Given the description of an element on the screen output the (x, y) to click on. 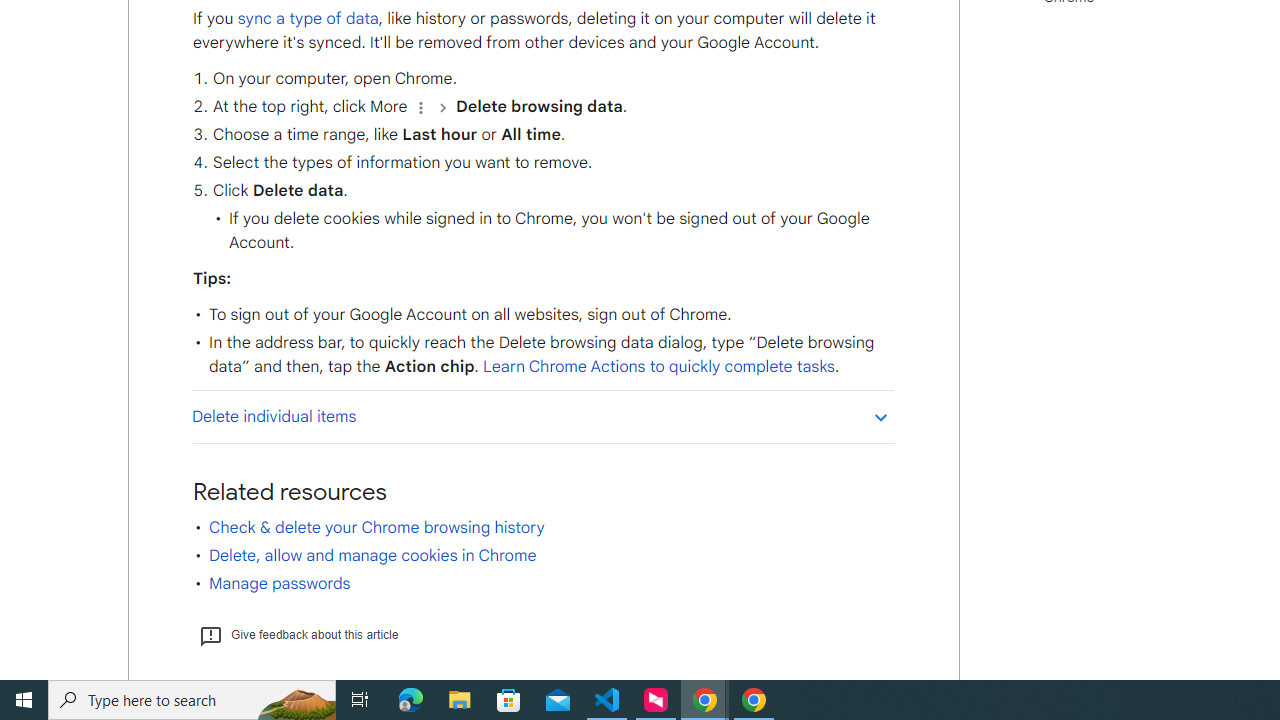
Manage passwords (279, 583)
Delete individual items (542, 416)
sync a type of data (307, 18)
More (420, 106)
Delete, allow and manage cookies in Chrome (372, 555)
Learn Chrome Actions to quickly complete tasks (658, 367)
Check & delete your Chrome browsing history (376, 527)
Give feedback about this article (298, 634)
and then (441, 106)
